Given the description of an element on the screen output the (x, y) to click on. 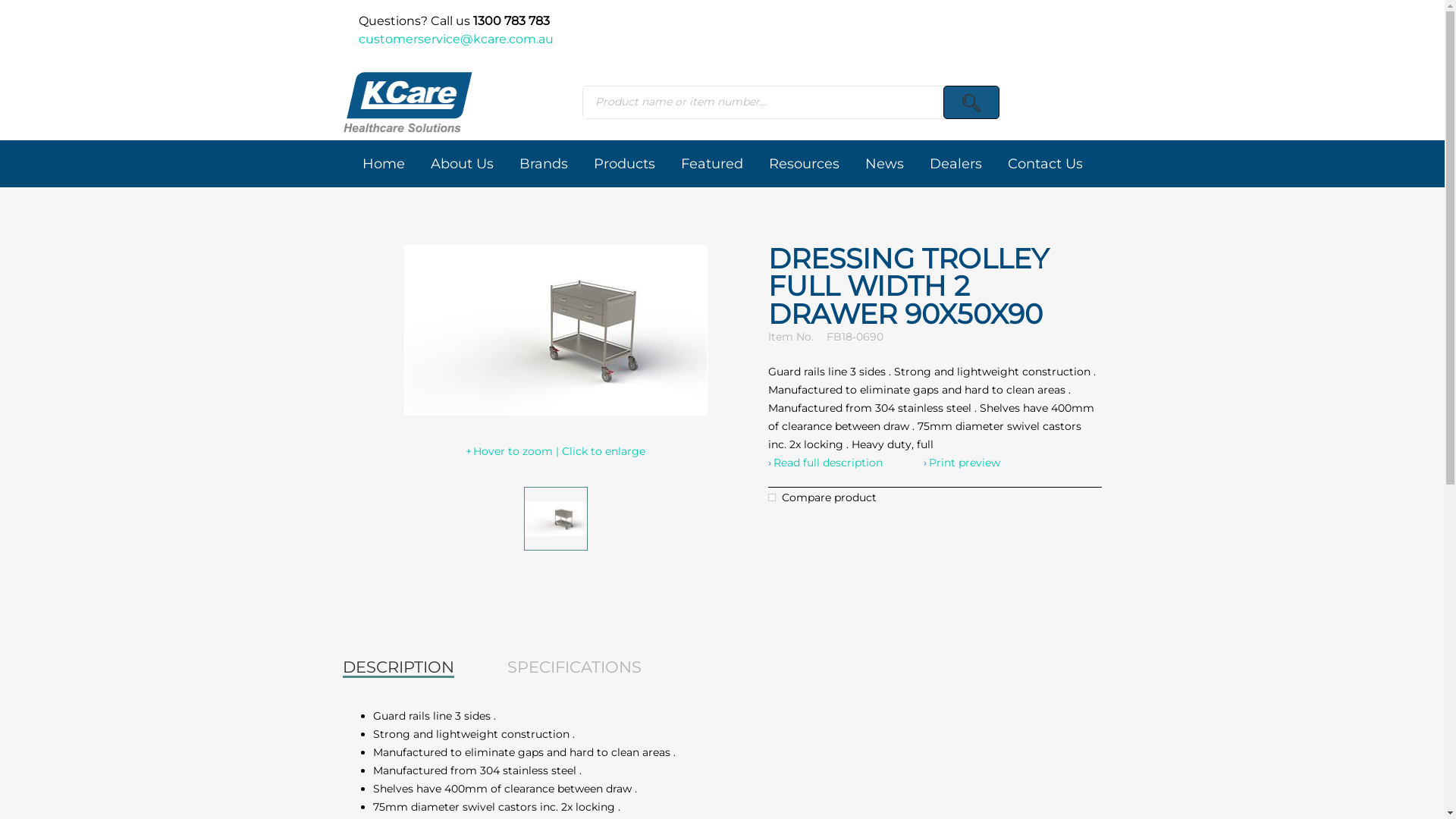
Contact Us Element type: text (1044, 163)
SPECIFICATIONS Element type: text (574, 666)
Brands Element type: text (543, 163)
customerservice@kcare.com.au Element type: text (454, 38)
Resources Element type: text (803, 163)
Dealers Element type: text (955, 163)
Home Element type: text (382, 163)
Print preview Element type: text (961, 462)
Featured Element type: text (711, 163)
Dressing Trolley Full Width 2 Drawer 90x50x90 Element type: hover (554, 329)
DESCRIPTION Element type: text (398, 666)
Hover to zoom | Click to enlarge Element type: text (555, 451)
About Us Element type: text (461, 163)
Search products Element type: hover (971, 102)
Products Element type: text (624, 163)
Read full description Element type: text (824, 462)
News Element type: text (884, 163)
Dressing Trolley Full Width 2 Drawer 90x50x90 Element type: hover (555, 518)
